Given the description of an element on the screen output the (x, y) to click on. 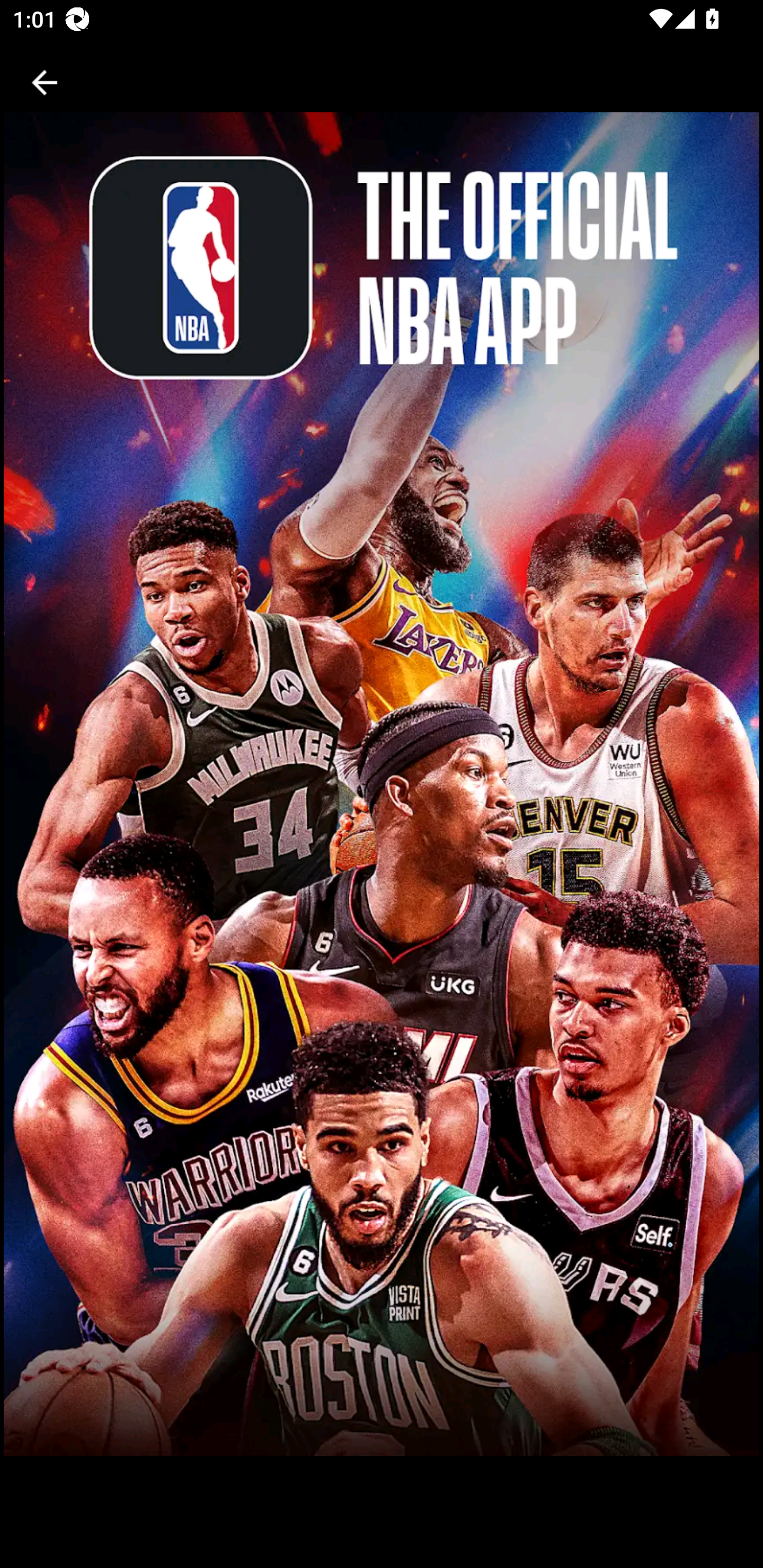
Back (44, 82)
